Given the description of an element on the screen output the (x, y) to click on. 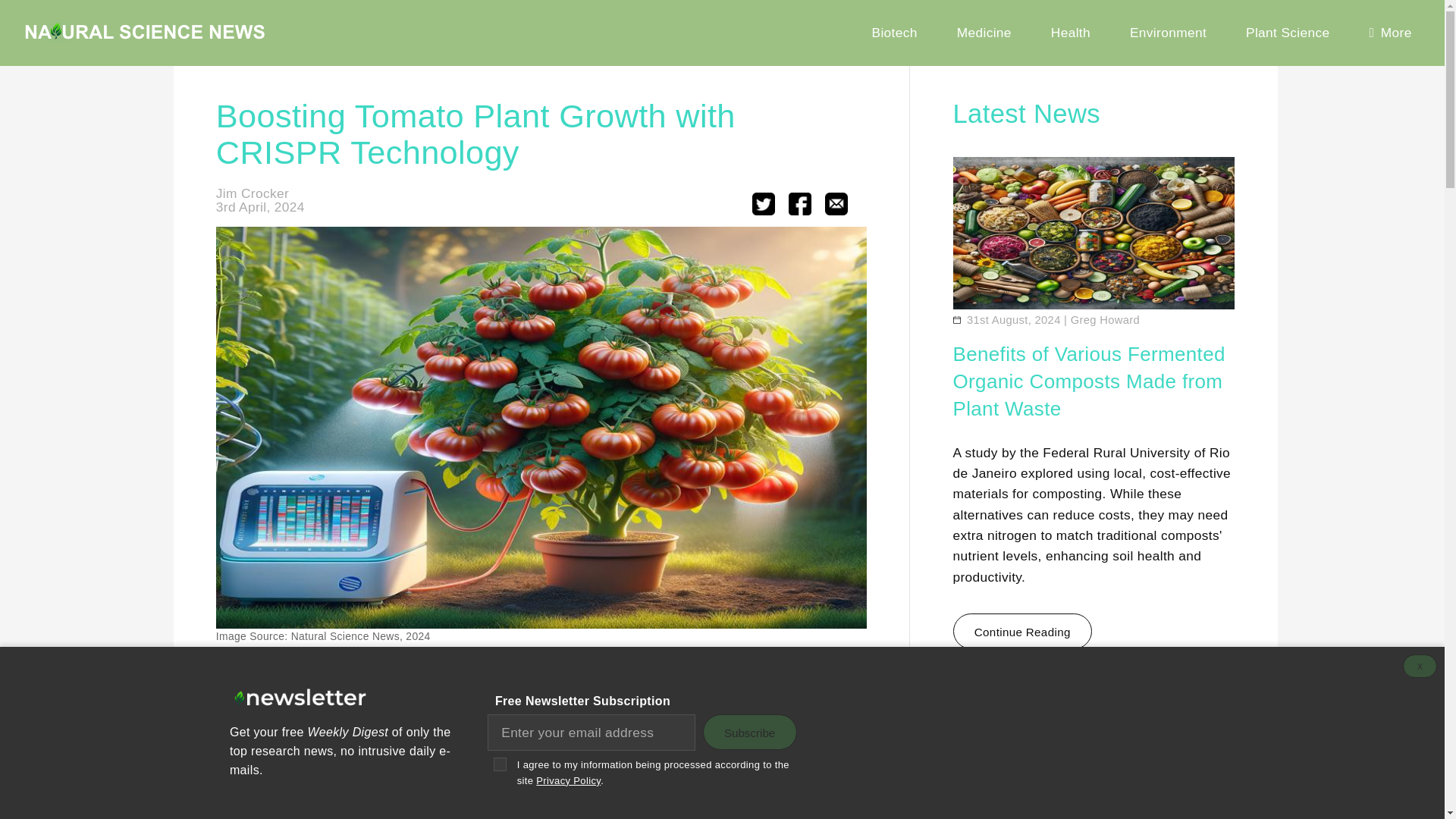
Biotech (894, 33)
Environment (1168, 33)
Health (1069, 33)
Medicine (984, 33)
Plant Science (1287, 33)
More (1390, 33)
